Given the description of an element on the screen output the (x, y) to click on. 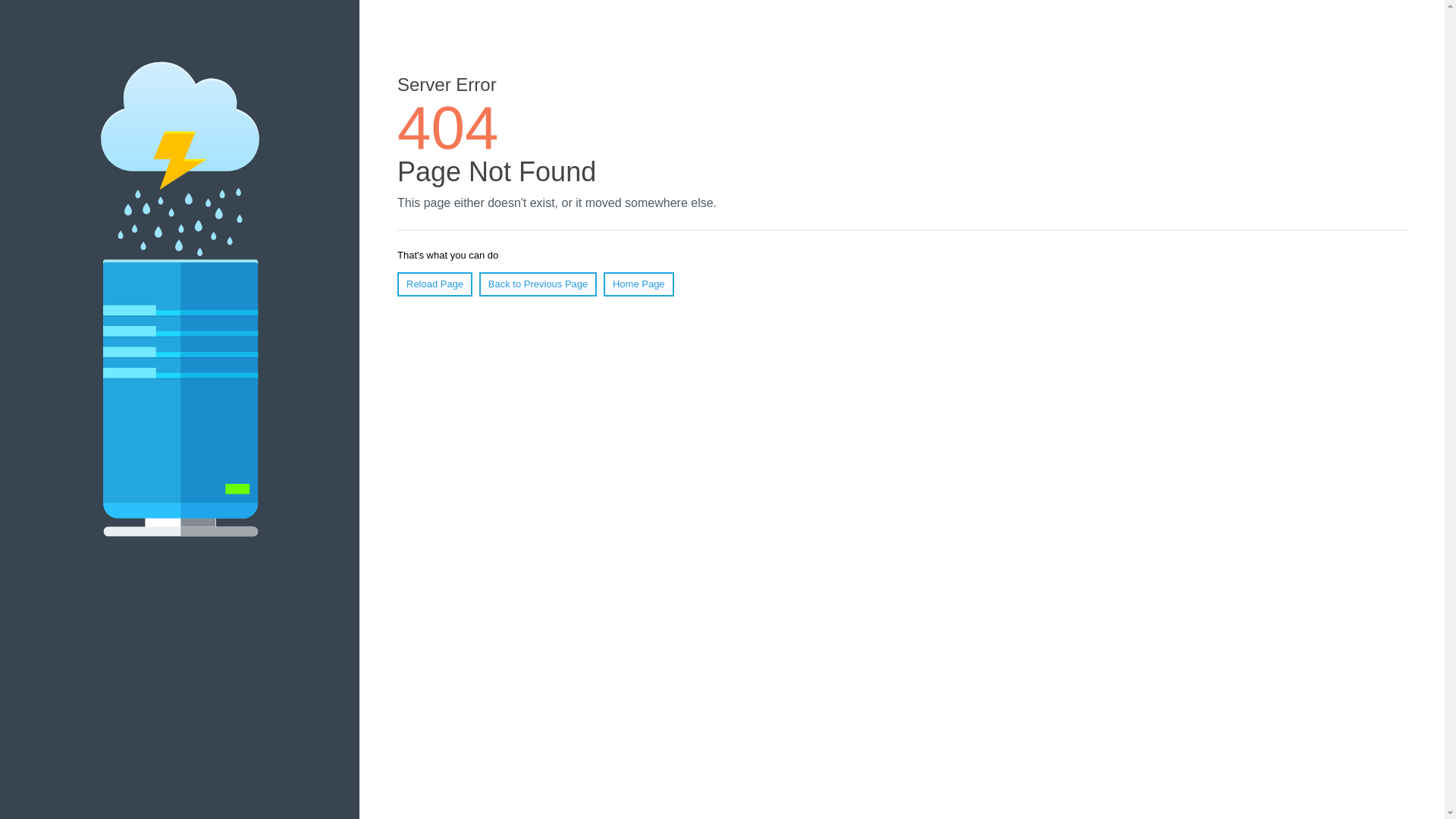
Home Page Element type: text (638, 284)
Back to Previous Page Element type: text (538, 284)
Reload Page Element type: text (434, 284)
